Given the description of an element on the screen output the (x, y) to click on. 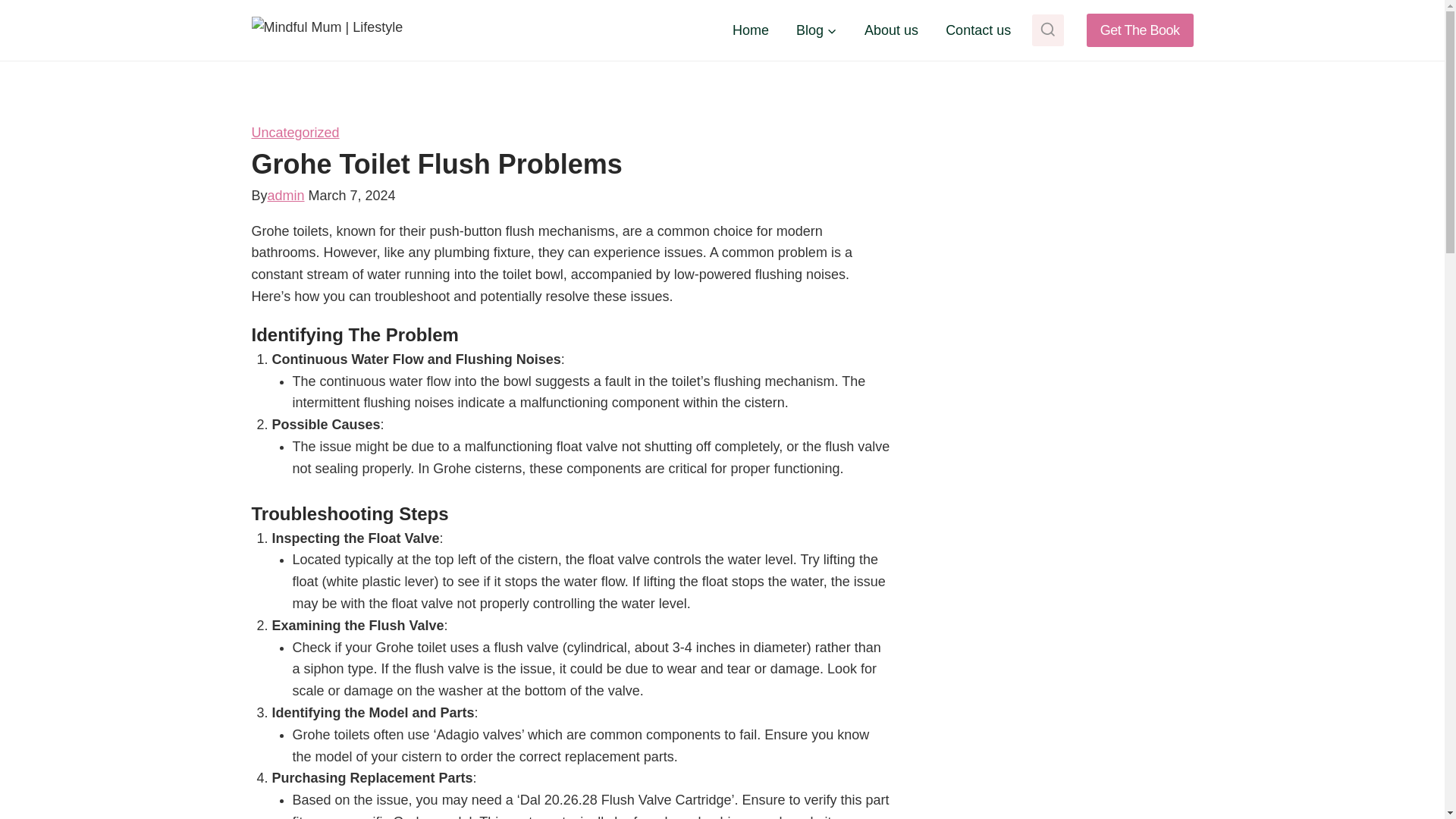
admin (285, 195)
Uncategorized (295, 132)
Contact us (978, 30)
Get The Book (1139, 29)
Blog (816, 30)
Home (751, 30)
About us (890, 30)
